Given the description of an element on the screen output the (x, y) to click on. 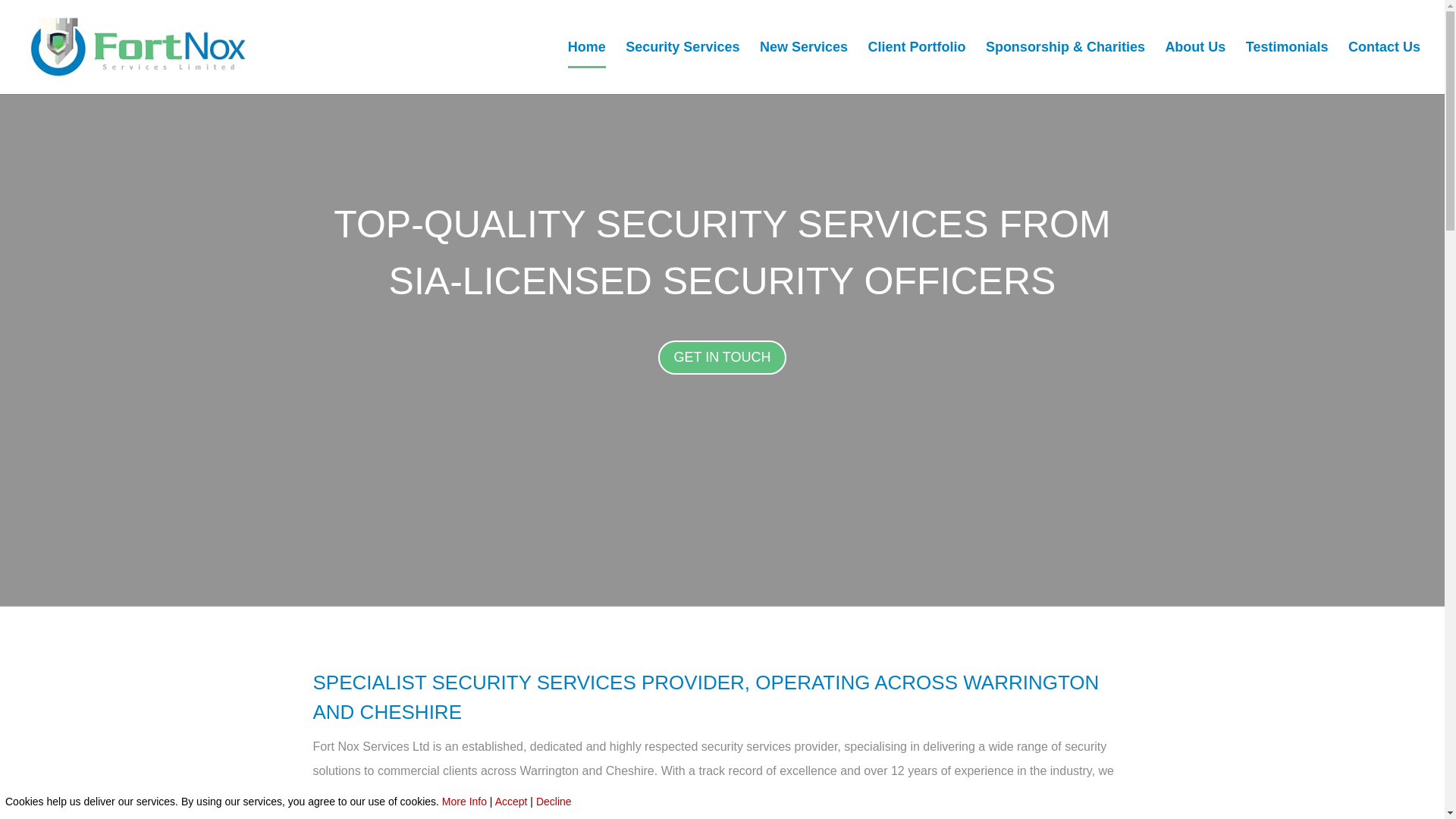
Security Services (682, 67)
More Info (464, 801)
GET IN TOUCH (722, 357)
Testimonials (1286, 67)
Decline (553, 801)
New Services (803, 67)
Accept (511, 801)
Client Portfolio (916, 67)
About Us (1194, 67)
Contact Us (1384, 67)
